Given the description of an element on the screen output the (x, y) to click on. 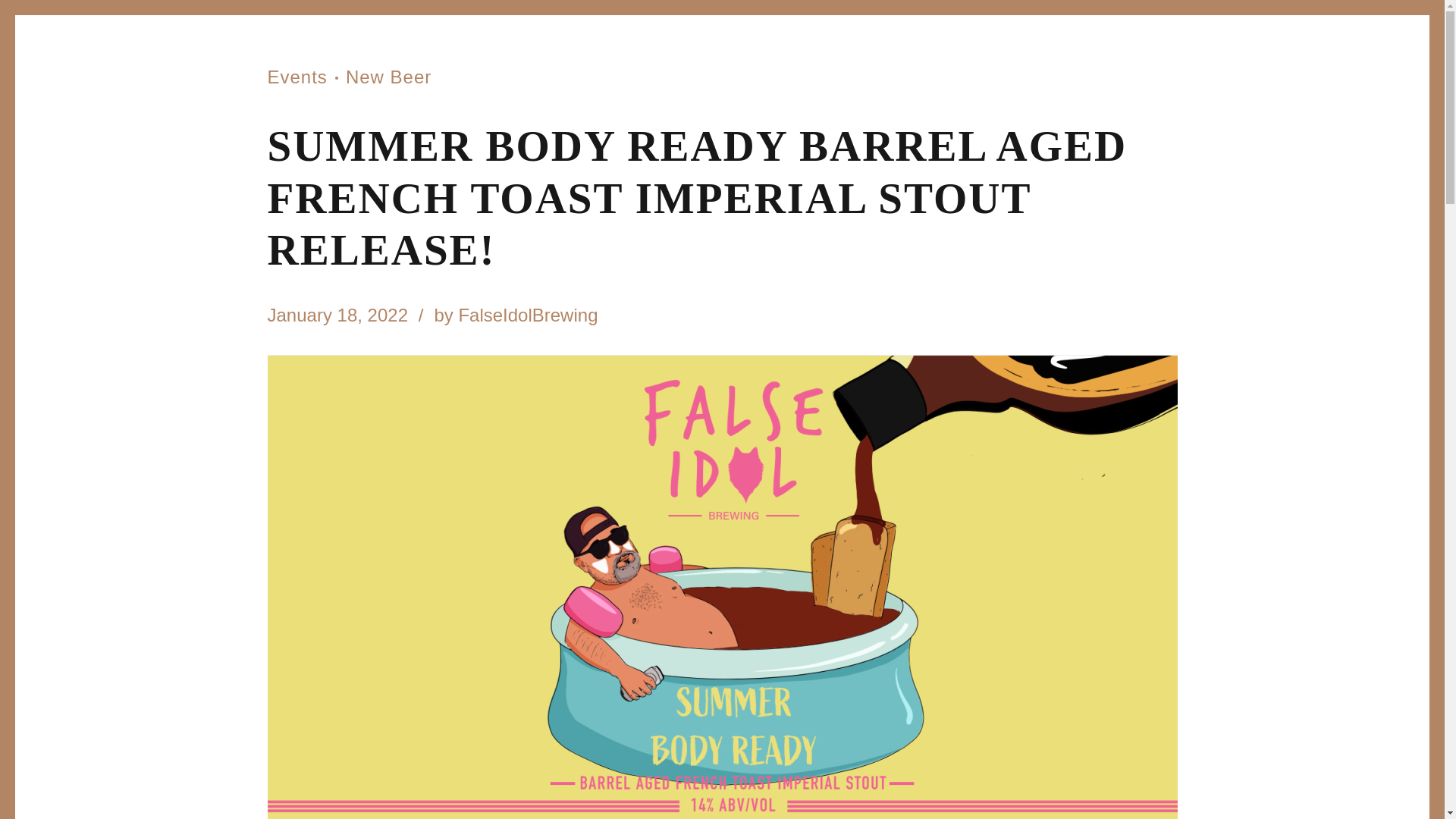
New Beer (378, 76)
Events (296, 76)
by FalseIdolBrewing (514, 314)
